Given the description of an element on the screen output the (x, y) to click on. 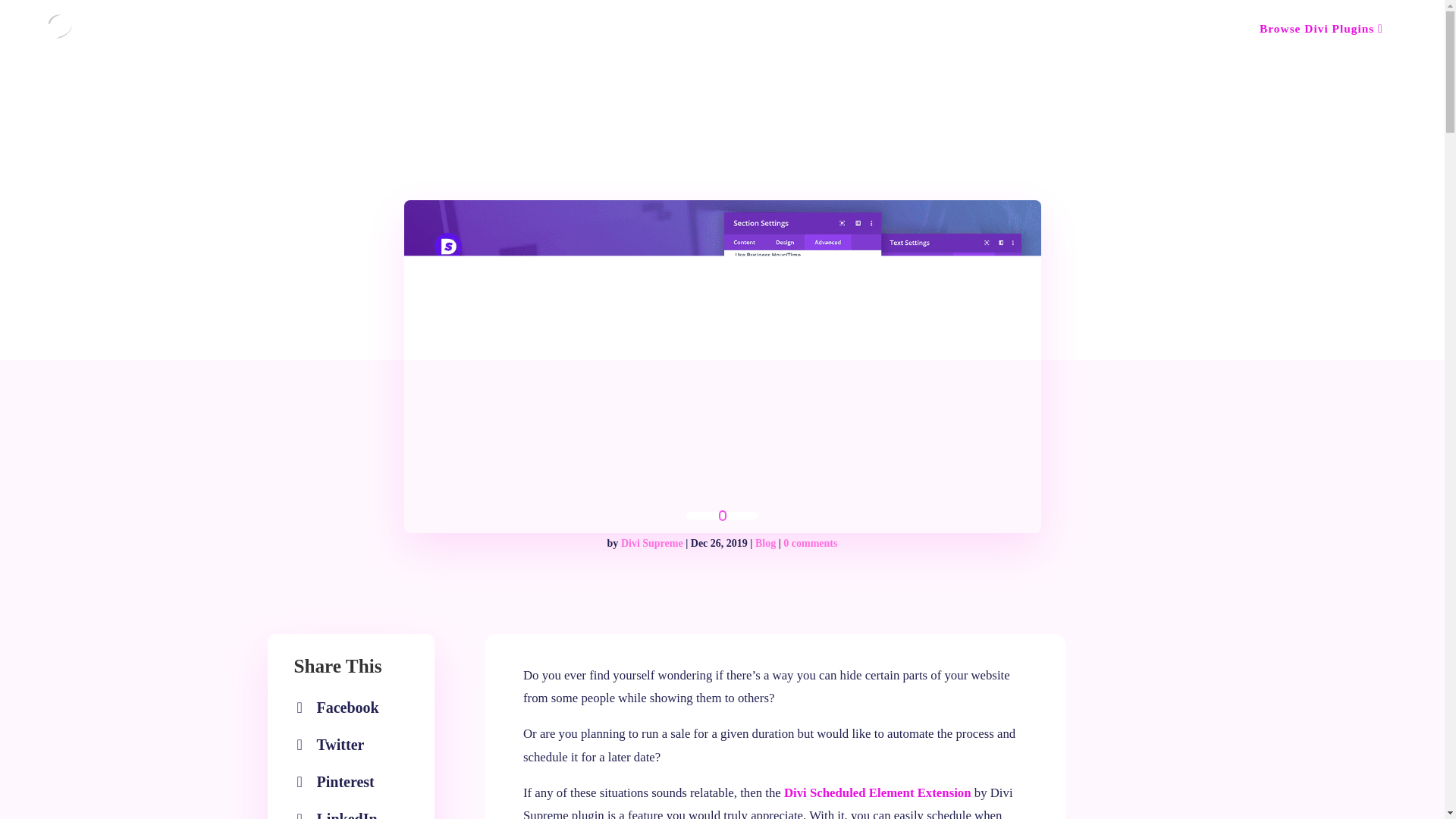
Blog (186, 34)
Twitter (334, 744)
Browse Divi Plugins (366, 34)
LinkedIn (1321, 28)
Login (341, 810)
Divi Supreme (1190, 28)
Divi Scheduled Element Extension (651, 542)
About (877, 792)
Divi Layouts (122, 34)
Blog (455, 34)
Facebook (765, 542)
Contact (342, 707)
0 comments (542, 34)
